Given the description of an element on the screen output the (x, y) to click on. 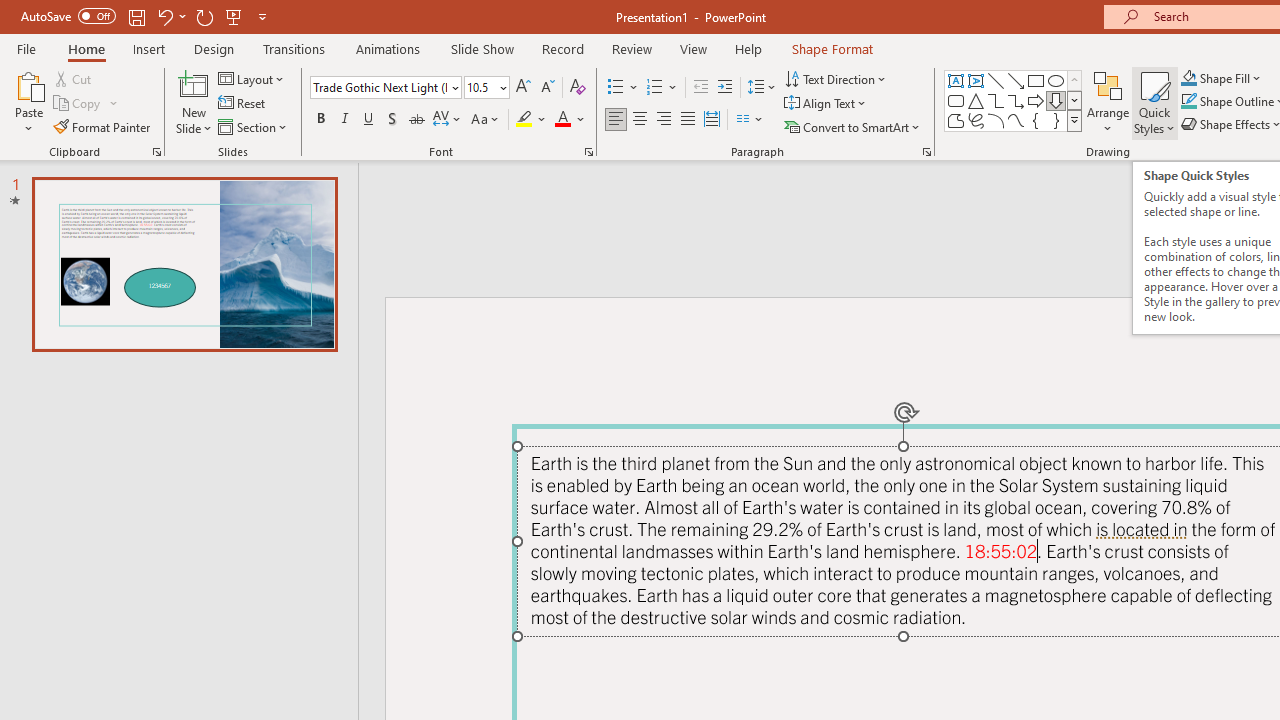
Shape Fill Aqua, Accent 2 (1188, 78)
Change Case (486, 119)
Reset (243, 103)
Increase Font Size (522, 87)
Shape Fill (1221, 78)
Shape Outline Teal, Accent 1 (1188, 101)
Font Color Red (562, 119)
Font Color (569, 119)
Connector: Elbow Arrow (1016, 100)
